Given the description of an element on the screen output the (x, y) to click on. 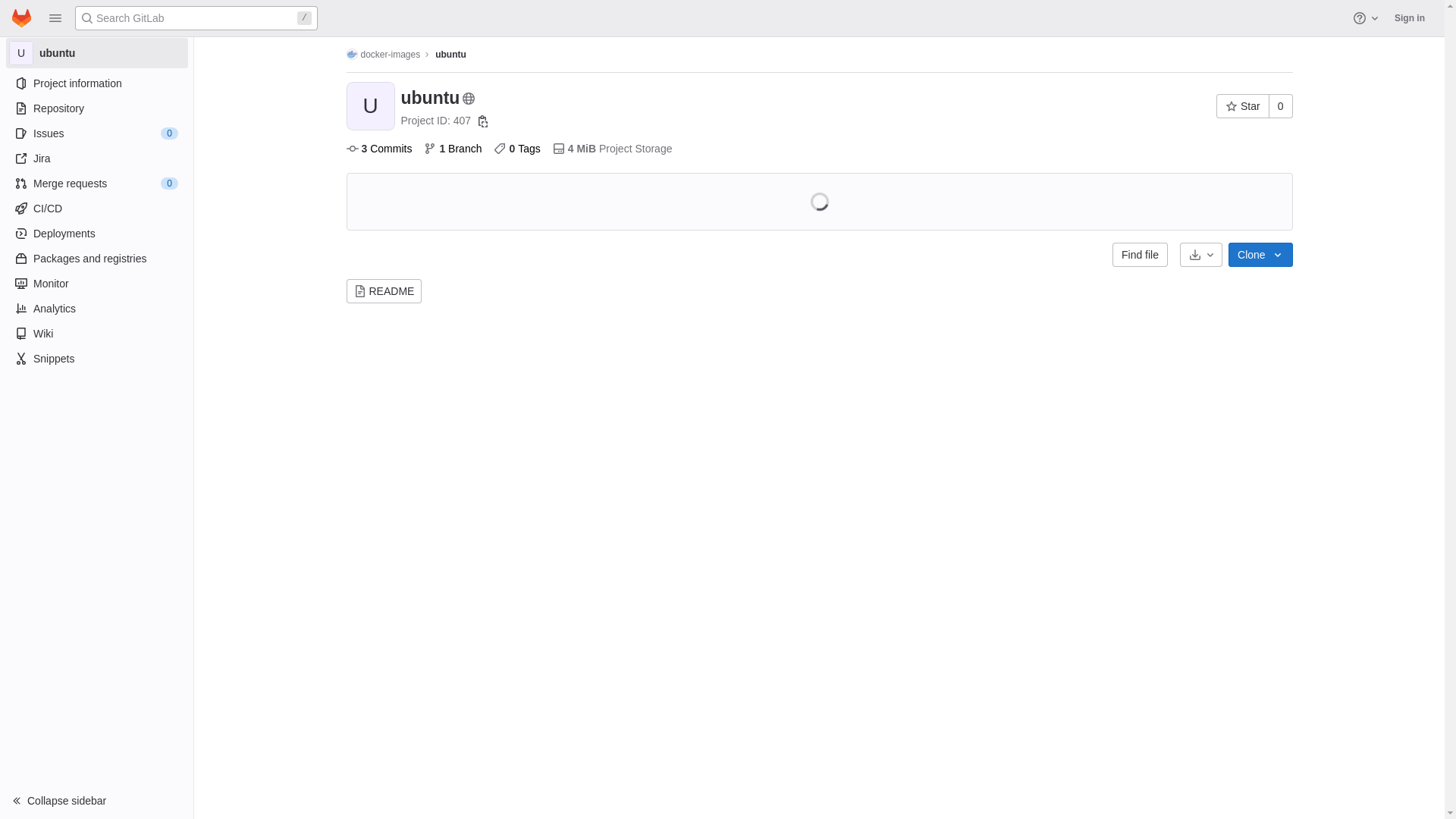
Sign in Element type: text (1409, 18)
Copy project ID Element type: hover (482, 121)
Merge requests
0 Element type: text (96, 183)
Select Archive Format Element type: text (1200, 254)
Issues
0 Element type: text (96, 133)
Analytics Element type: text (96, 308)
Monitor Element type: text (96, 283)
Repository Element type: text (96, 108)
Jira Element type: text (96, 158)
3
 Commits Element type: text (378, 148)
Deployments Element type: text (96, 233)
0
 Tags Element type: text (516, 148)
docker-images Element type: text (382, 54)
U
ubuntu Element type: text (97, 52)
Clone Element type: text (1260, 254)
Project information Element type: text (96, 83)
0 Element type: text (1280, 106)
Packages and registries Element type: text (96, 258)
Snippets Element type: text (96, 358)
CI/CD Element type: text (96, 208)
Help Element type: text (1366, 18)
Star Element type: text (1242, 106)
Wiki Element type: text (96, 333)
ubuntu Element type: text (450, 54)
Find file Element type: text (1139, 254)
README Element type: text (383, 291)
Homepage Element type: hover (21, 18)
1
 Branch Element type: text (452, 148)
Skip to content Element type: text (11, 18)
